Given the description of an element on the screen output the (x, y) to click on. 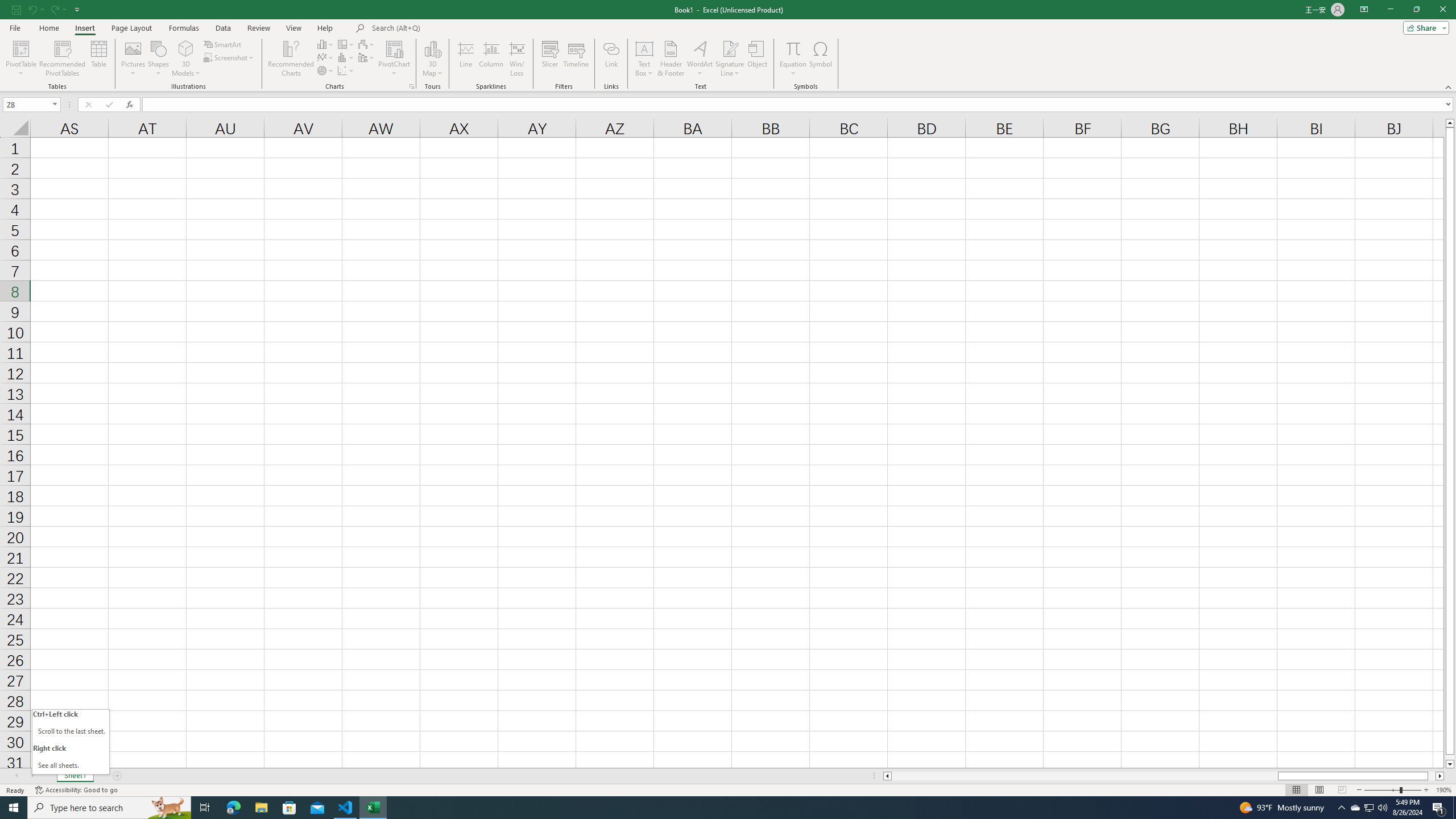
Zoom Out (1381, 790)
Insert Combo Chart (366, 56)
Scroll Left (16, 775)
Equation (793, 48)
View (293, 28)
Home (48, 28)
PivotChart (394, 48)
Object... (757, 58)
PivotTable (20, 48)
Line up (1449, 122)
Table (98, 58)
